Given the description of an element on the screen output the (x, y) to click on. 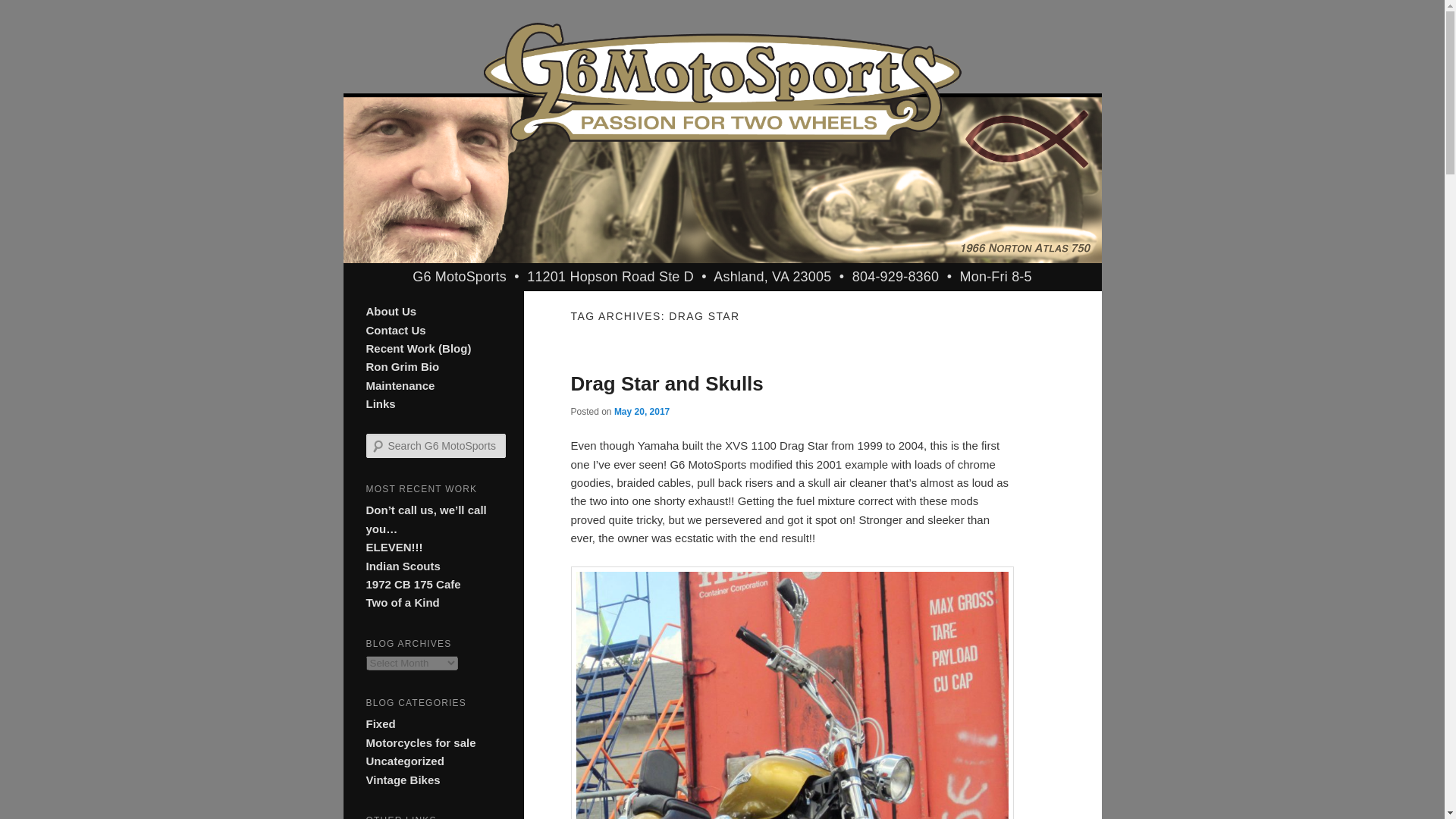
Contact Us (395, 329)
About Us (390, 310)
Ron Grim Bio (402, 366)
Motorcycles for sale (420, 742)
Vintage Bikes (402, 779)
Fixed (379, 723)
Indian Scouts (402, 565)
ELEVEN!!! (393, 546)
Links (379, 403)
Drag Star and Skulls (666, 383)
May 20, 2017 (641, 411)
Uncategorized (404, 760)
1972 CB 175 Cafe (412, 584)
Search (21, 11)
